Given the description of an element on the screen output the (x, y) to click on. 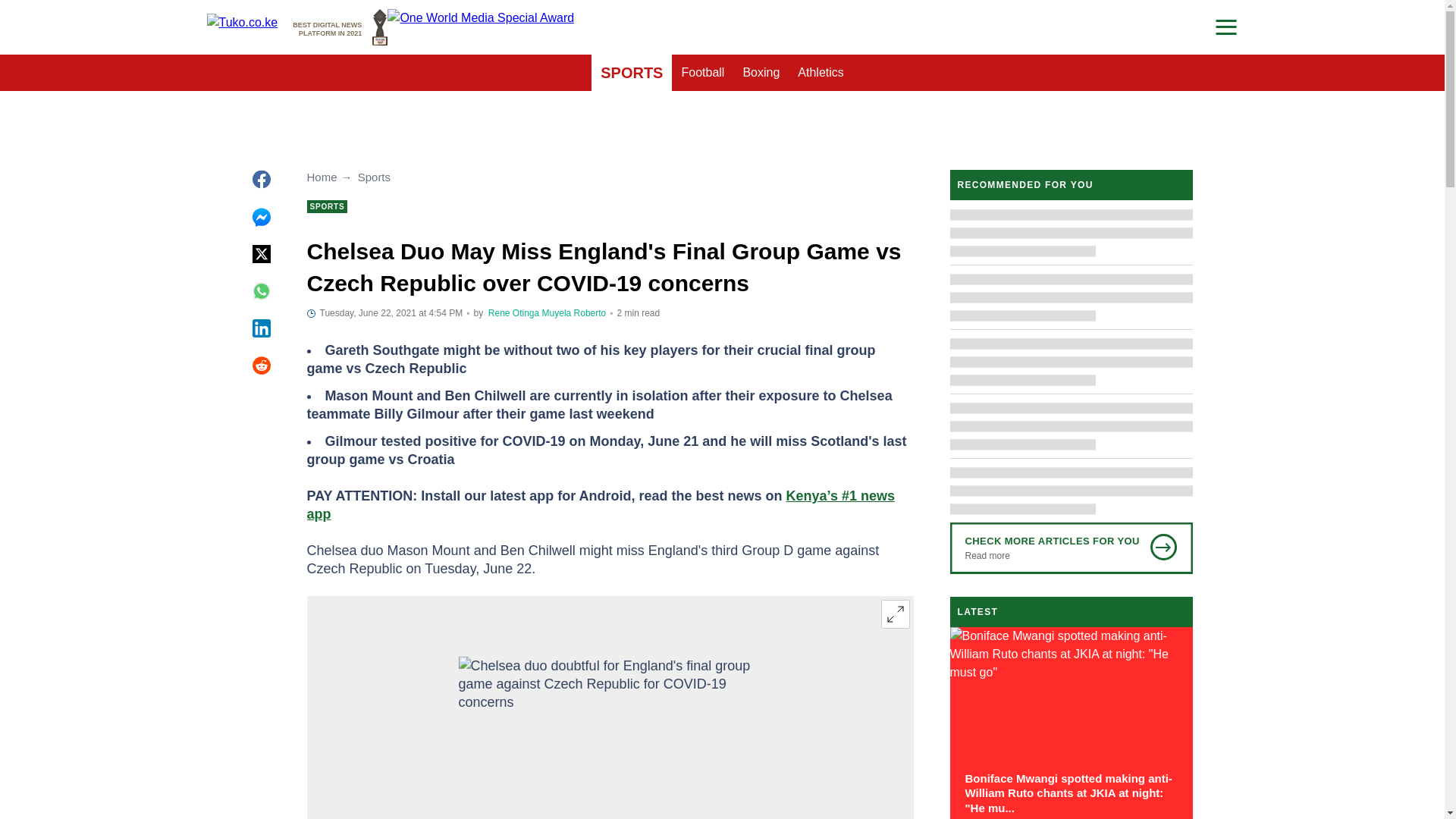
Boxing (761, 72)
Author page (512, 312)
SPORTS (631, 72)
Author page (574, 312)
Football (702, 72)
Expand image (895, 613)
Athletics (339, 27)
